Given the description of an element on the screen output the (x, y) to click on. 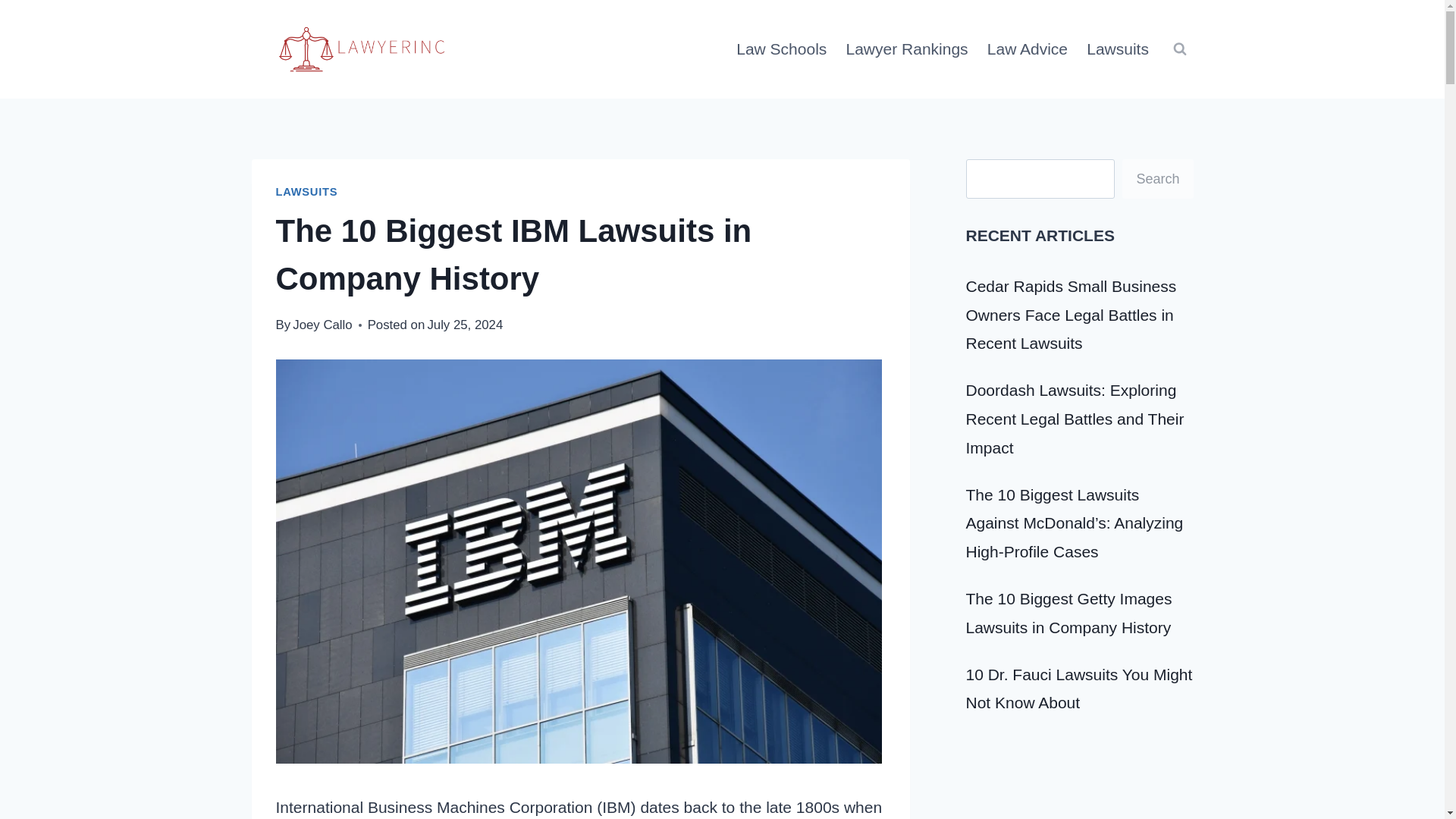
Lawsuits (1117, 49)
Law Schools (780, 49)
Lawyer Rankings (905, 49)
LAWSUITS (306, 191)
Law Advice (1026, 49)
Joey Callo (322, 323)
